Given the description of an element on the screen output the (x, y) to click on. 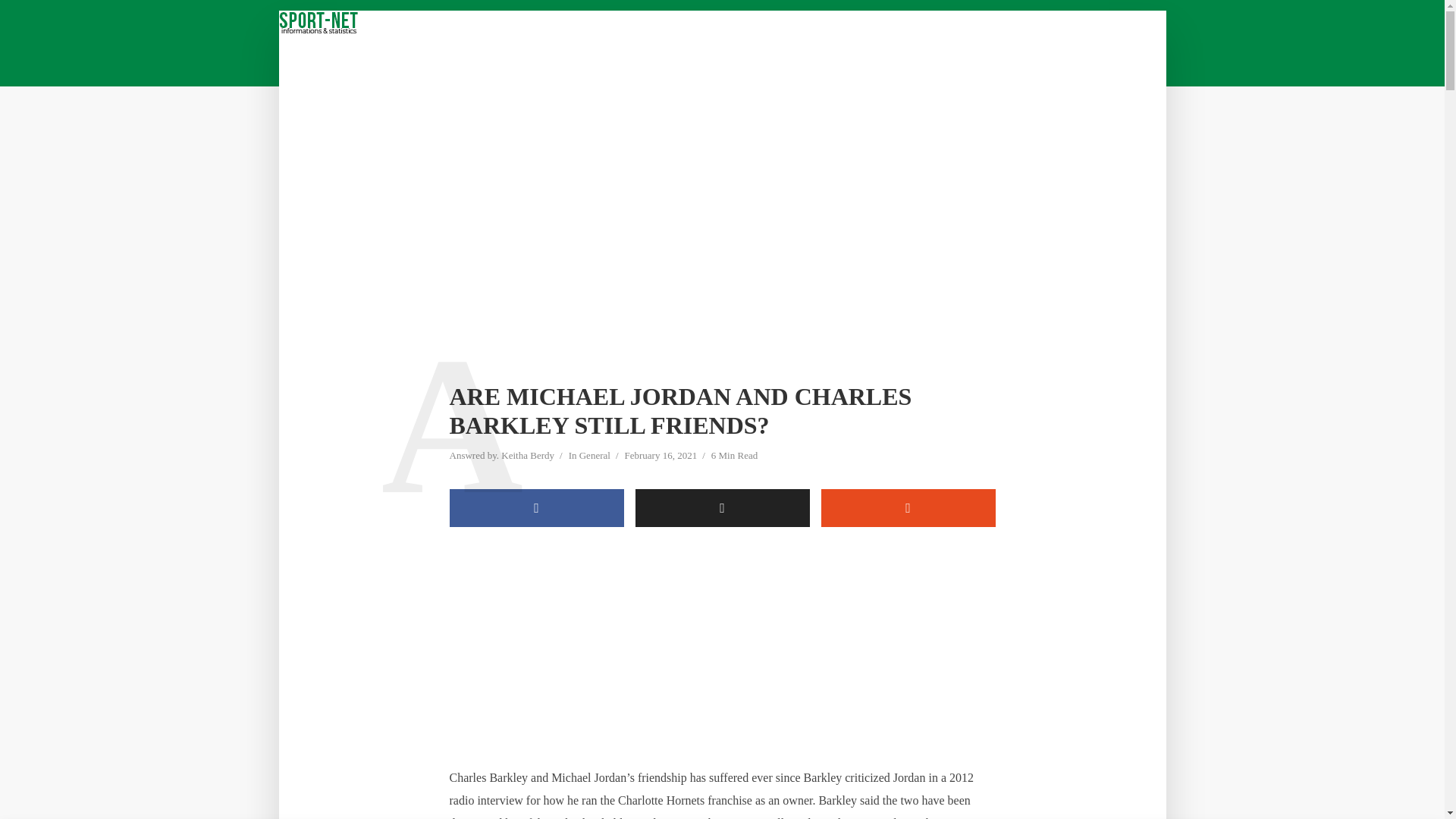
Advertisement (721, 653)
General (594, 456)
Keitha Berdy (527, 456)
